Given the description of an element on the screen output the (x, y) to click on. 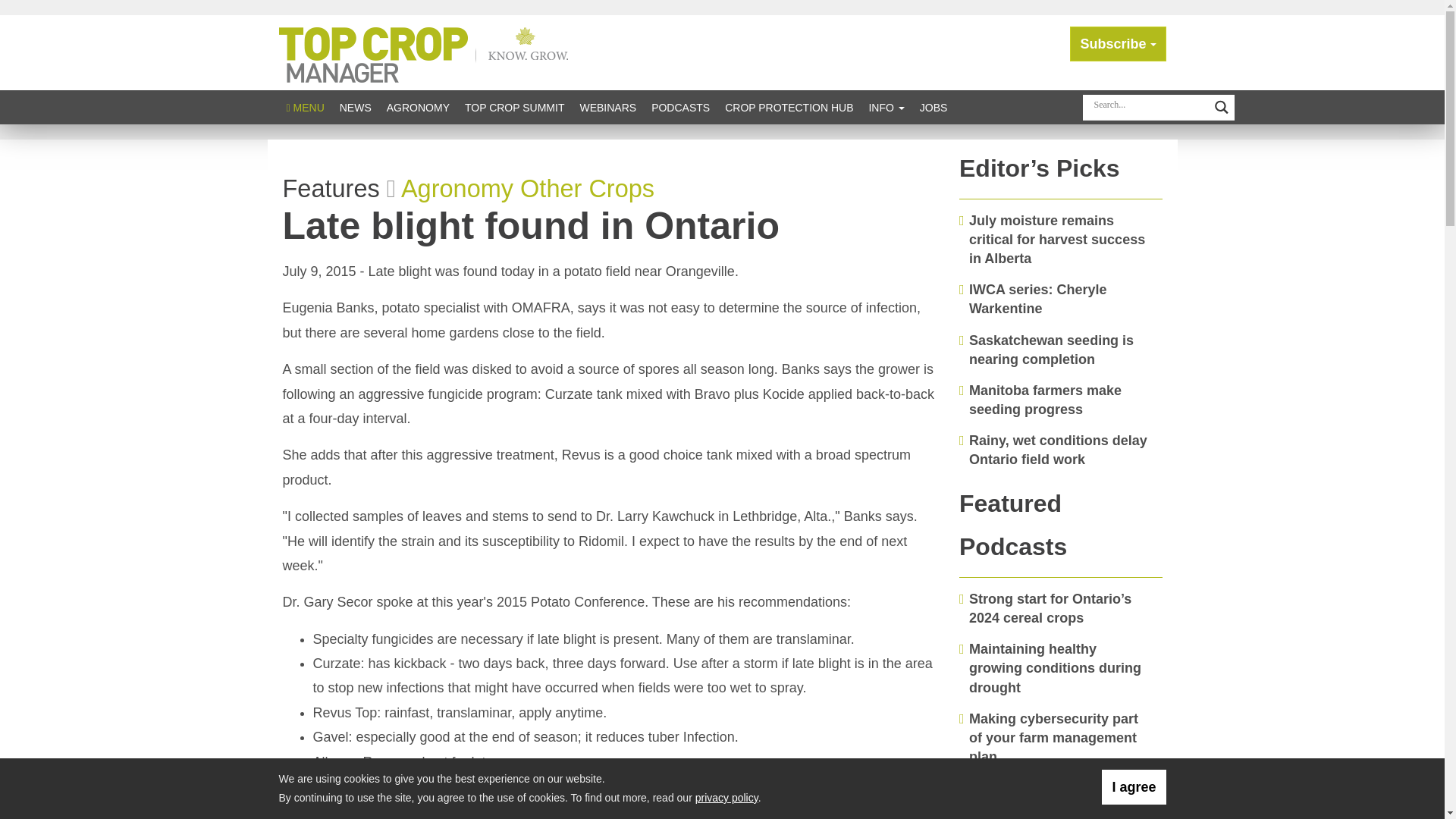
Subscribe (1118, 43)
TOP CROP SUMMIT (514, 107)
CROP PROTECTION HUB (788, 107)
Click to show site navigation (305, 107)
NEWS (354, 107)
Top Crop Manager (427, 51)
WEBINARS (607, 107)
INFO (885, 107)
JOBS (933, 107)
MENU (305, 107)
AGRONOMY (417, 107)
PODCASTS (680, 107)
